Given the description of an element on the screen output the (x, y) to click on. 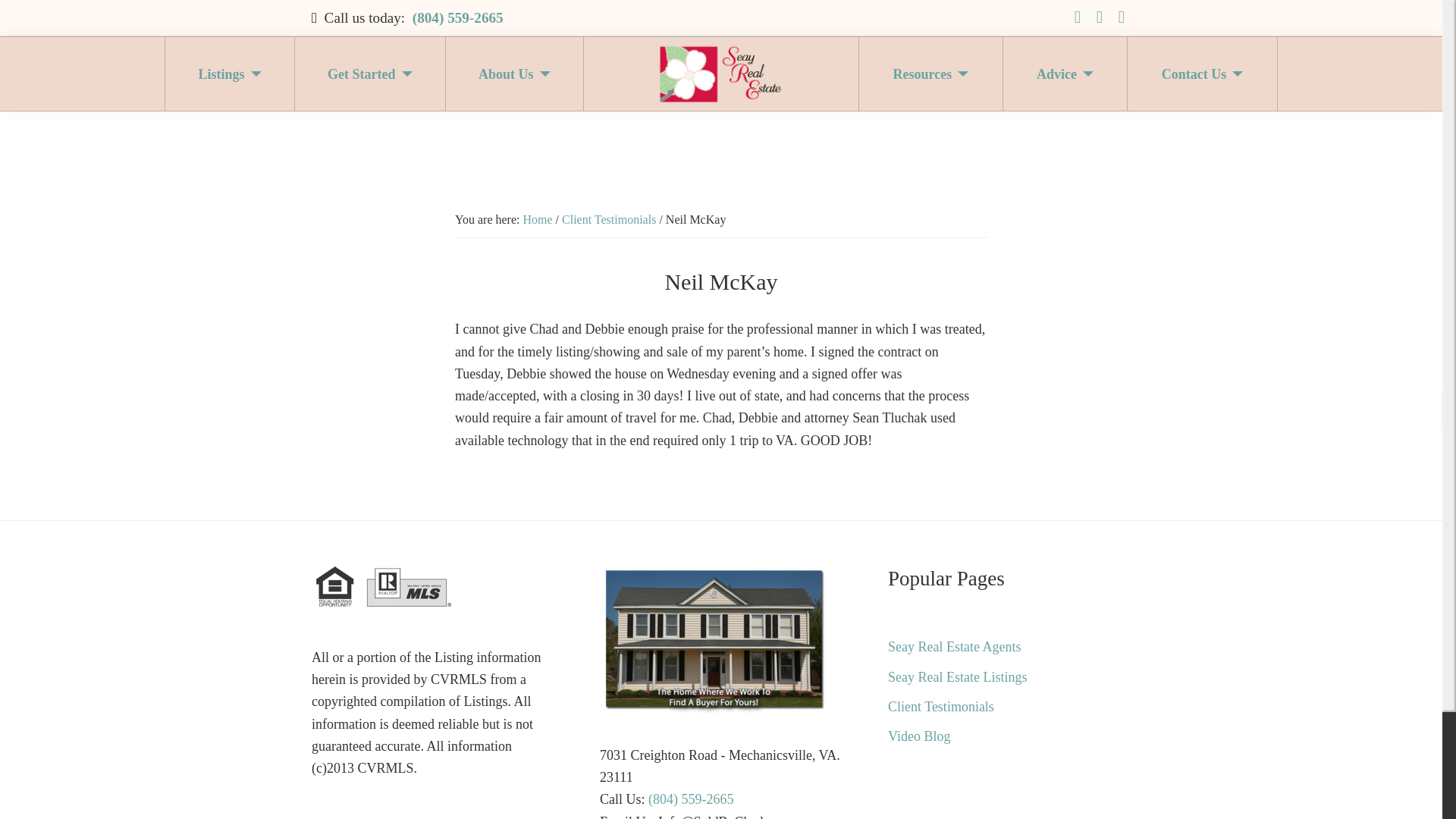
Contact Us (1202, 74)
Get Started (369, 74)
Resources (931, 74)
Like on Facebook (1077, 17)
Listings (230, 74)
Watch on YouTube (1099, 17)
Advice (1064, 74)
About Us (514, 74)
Connect on Linked In (1121, 17)
